Given the description of an element on the screen output the (x, y) to click on. 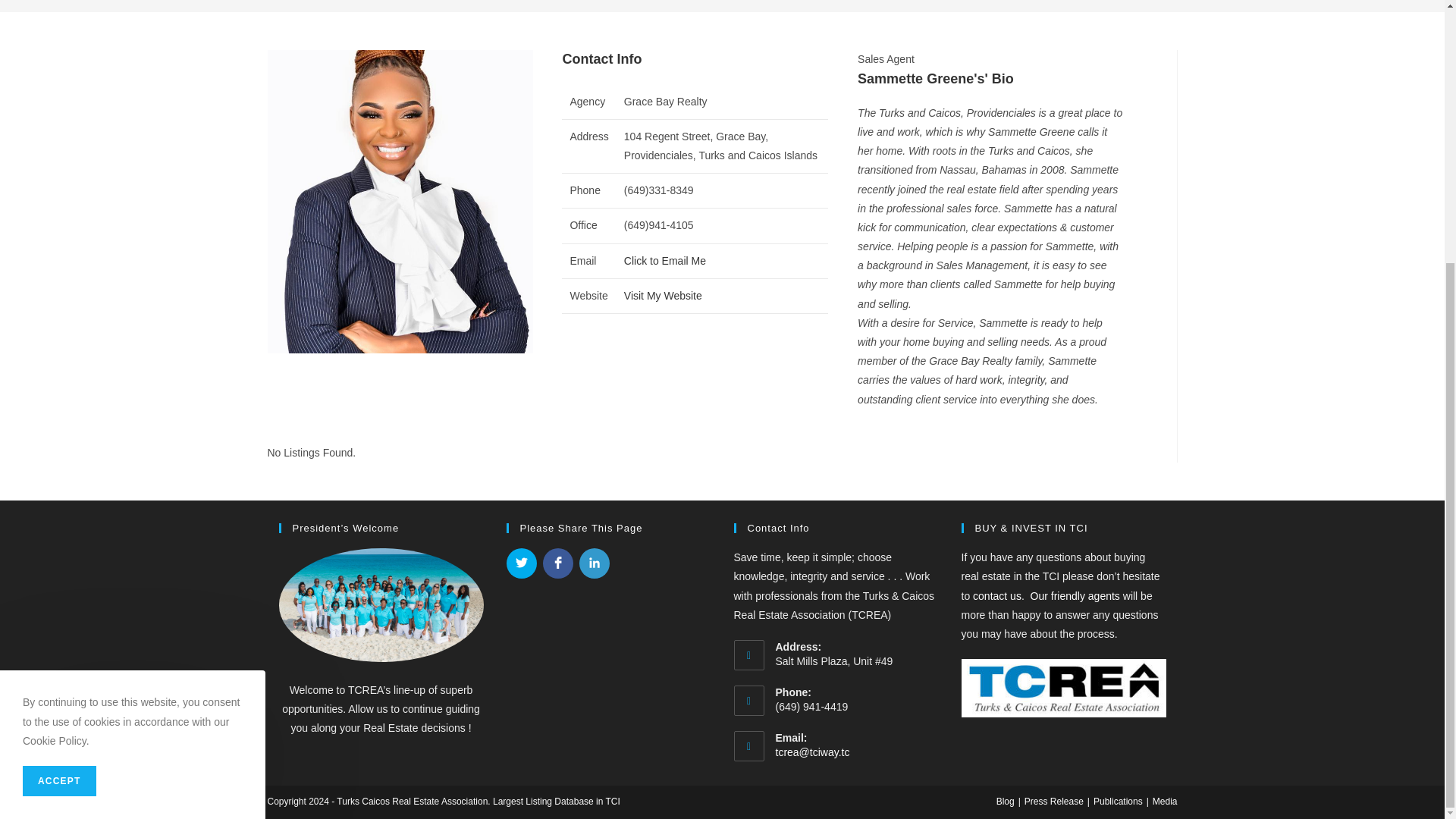
Share on Twitter (521, 562)
Share on LinkedIn (594, 562)
Share on Facebook (558, 562)
